Given the description of an element on the screen output the (x, y) to click on. 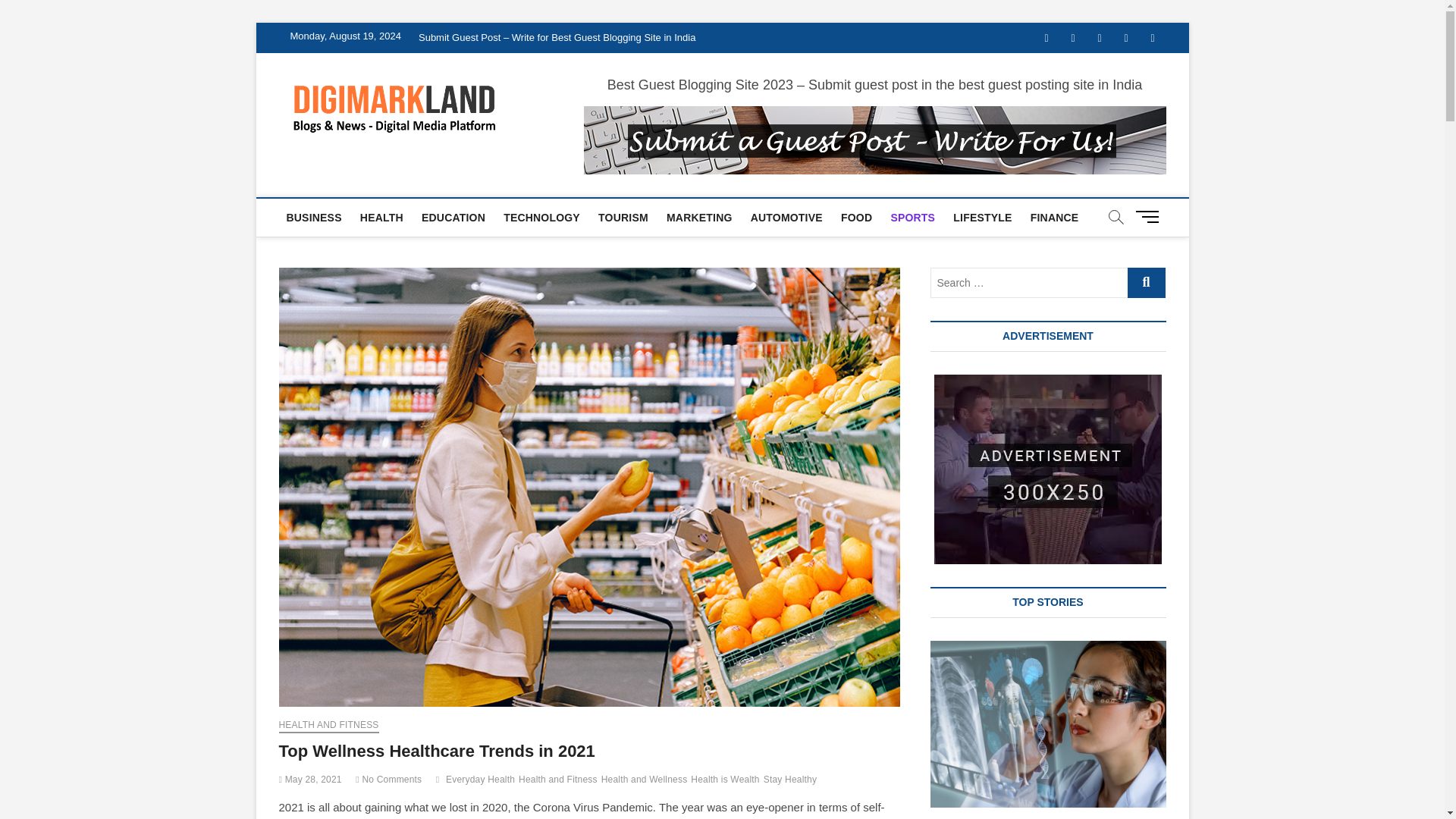
BUSINESS (314, 217)
LIFESTYLE (981, 217)
HEALTH (381, 217)
linkedin (1099, 38)
Menu Button (1150, 215)
No Comments (388, 778)
AUTOMOTIVE (785, 217)
instagram (1126, 38)
SPORTS (912, 217)
Everyday Health (481, 780)
